Given the description of an element on the screen output the (x, y) to click on. 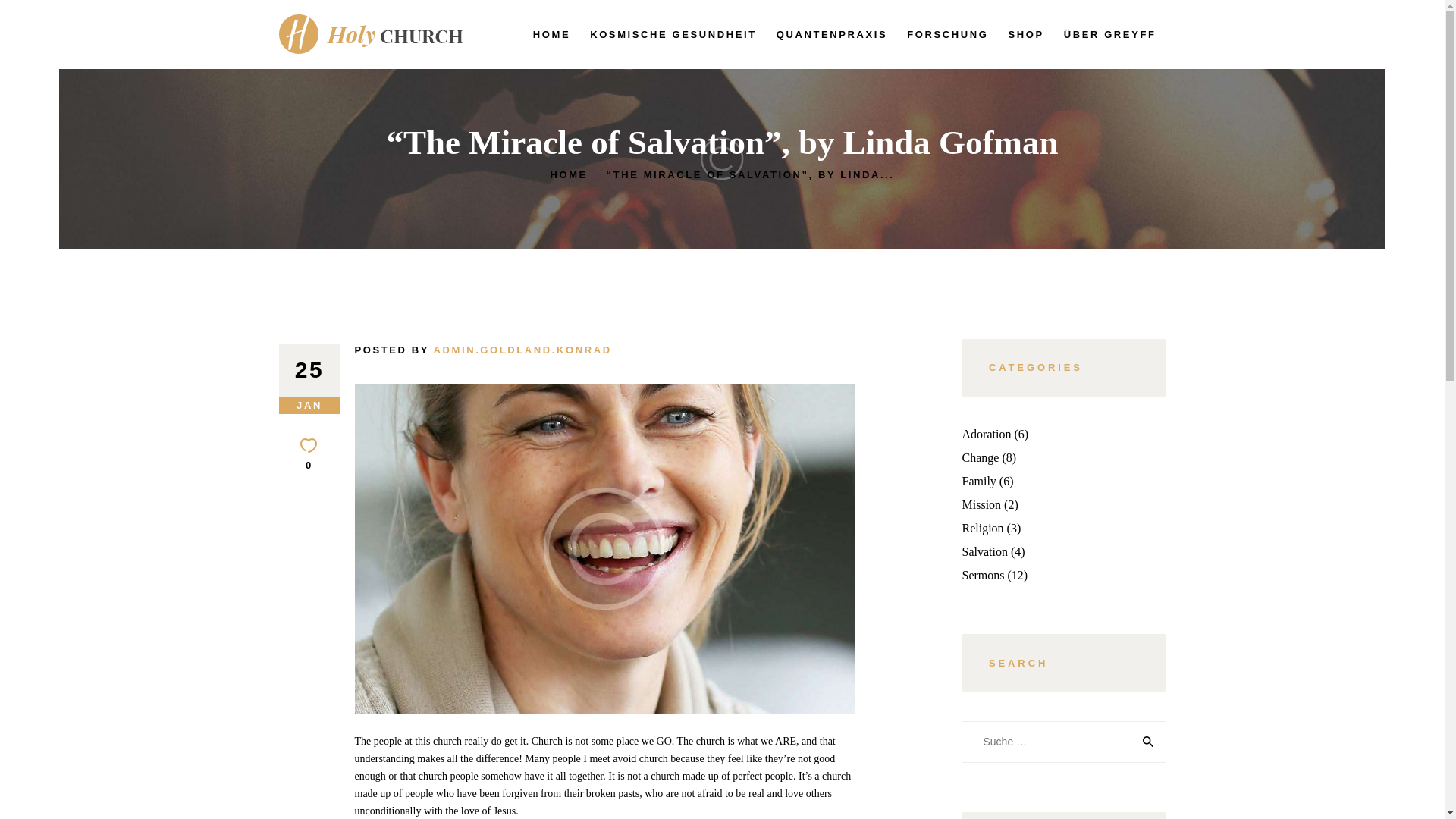
Like (309, 454)
KOSMISCHE GESUNDHEIT (673, 34)
POSTED BY ADMIN.GOLDLAND.KONRAD (483, 349)
QUANTENPRAXIS (832, 34)
SHOP (1024, 34)
HOME (568, 174)
Adoration (985, 433)
Religion (981, 527)
Suche (1145, 741)
HOME (550, 34)
Change (979, 457)
Family (977, 481)
Salvation (983, 551)
Sermons (982, 574)
0 (309, 454)
